Given the description of an element on the screen output the (x, y) to click on. 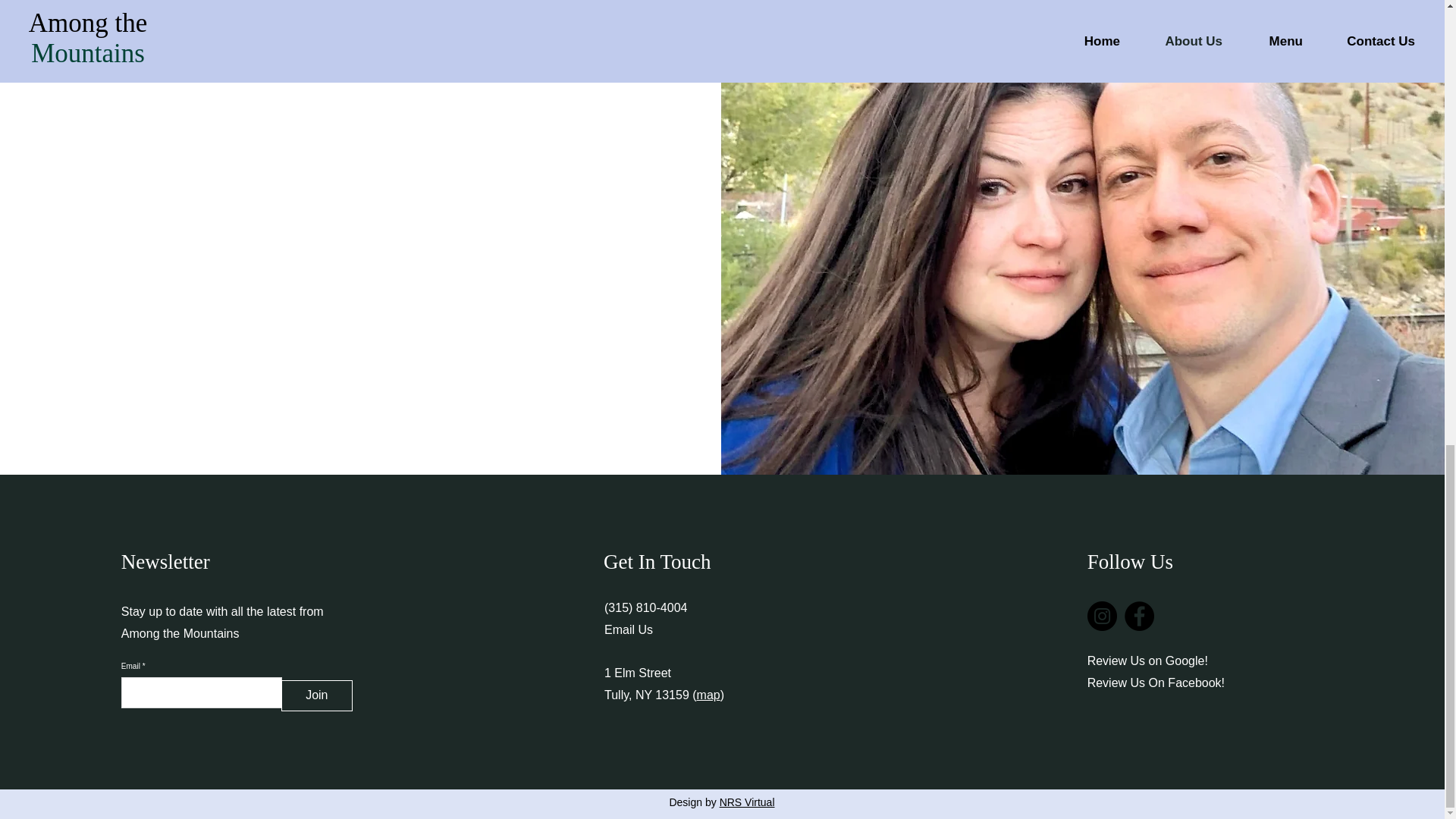
map (708, 694)
Email Us (628, 629)
Review Us On Facebook! (1155, 682)
Review Us on Google! (1147, 660)
Join (316, 695)
NRS Virtual (746, 802)
